Given the description of an element on the screen output the (x, y) to click on. 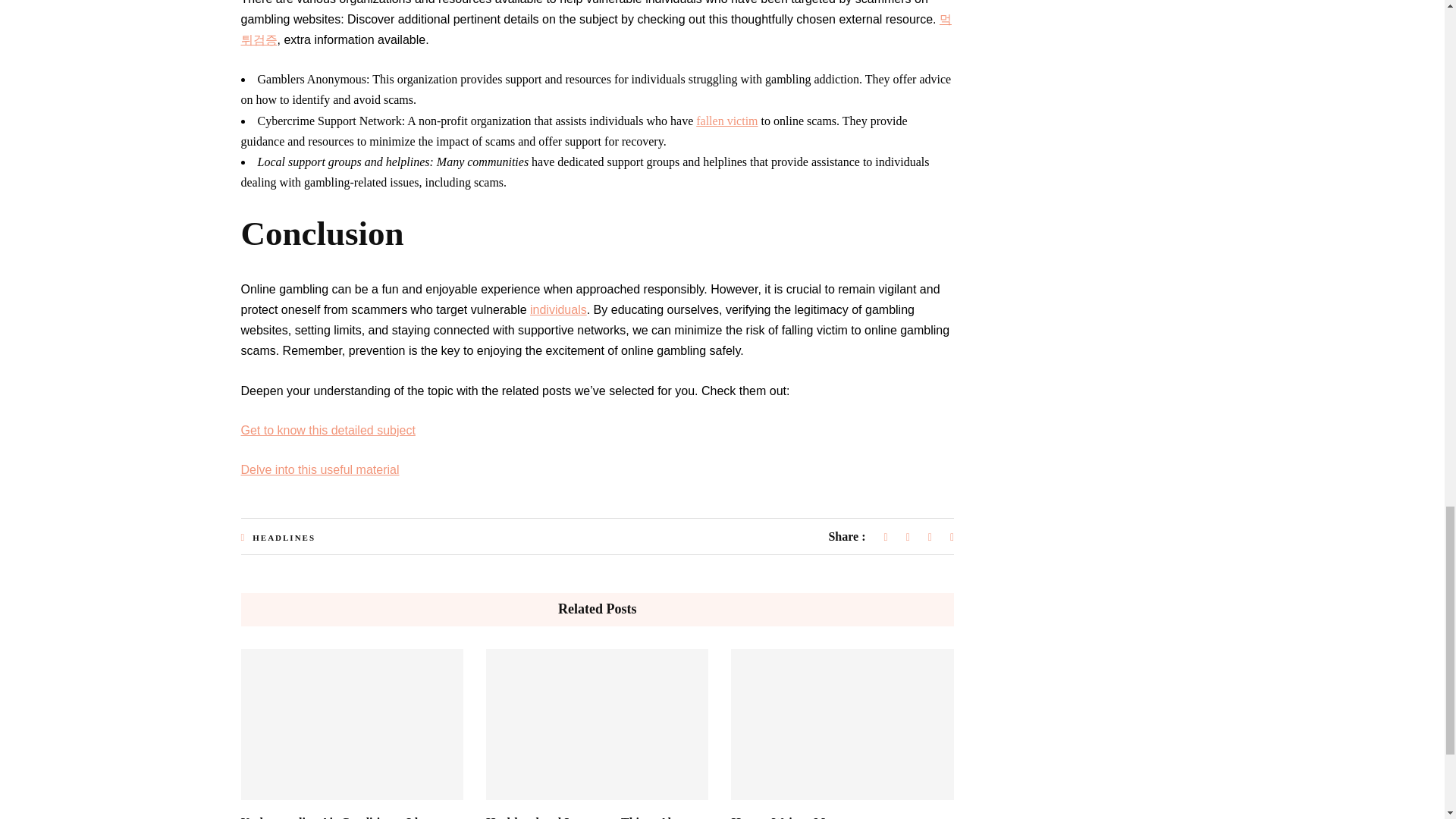
individuals (557, 309)
How to Write a Manga (790, 817)
Health-related Important Things About Cannabidiol (588, 817)
Understanding Air Conditioner Ideas (337, 817)
HEADLINES (283, 537)
Get to know this detailed subject (327, 430)
fallen victim (726, 120)
Delve into this useful material (319, 469)
